Given the description of an element on the screen output the (x, y) to click on. 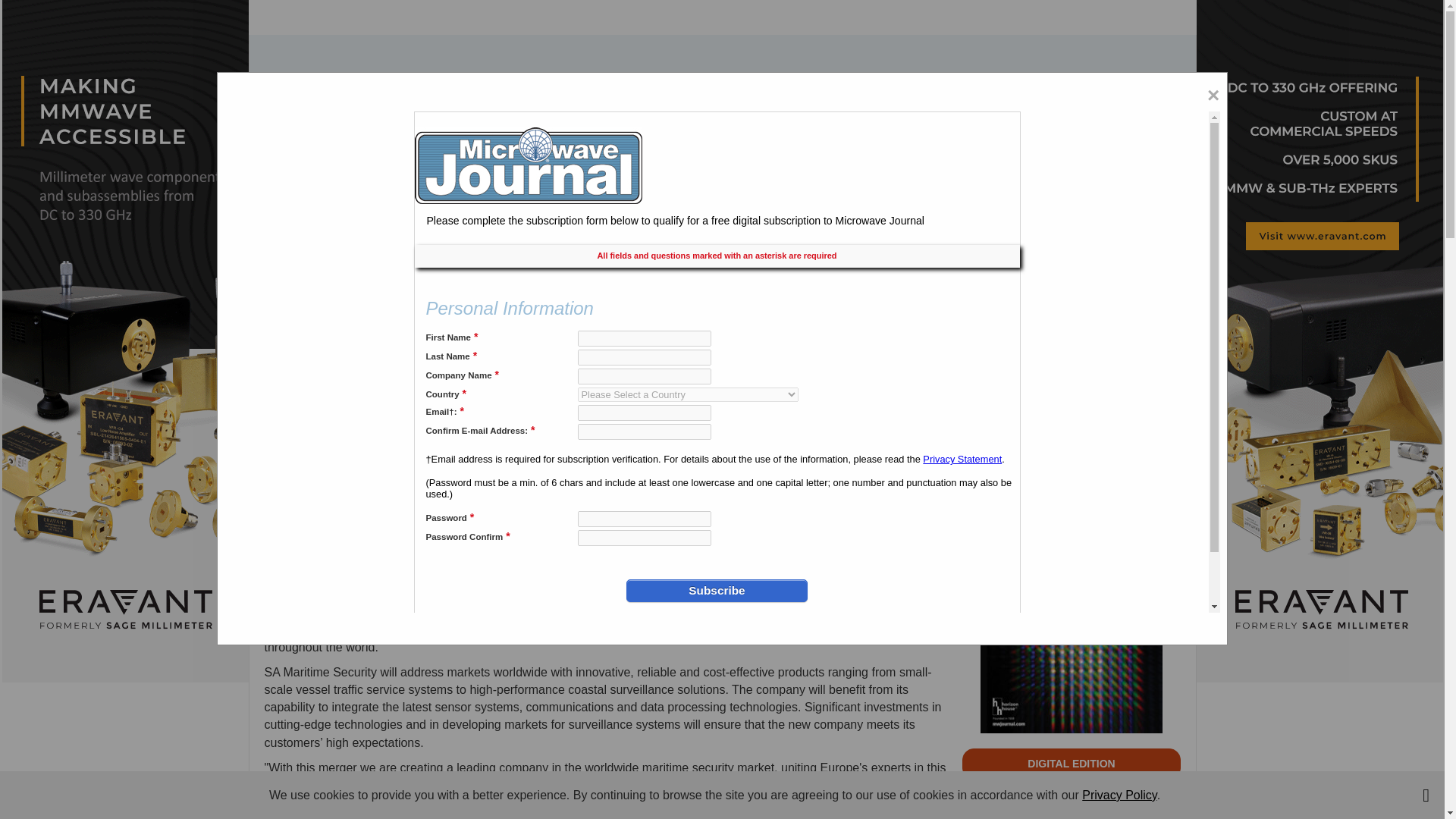
3rd party ad content (721, 83)
